Given the description of an element on the screen output the (x, y) to click on. 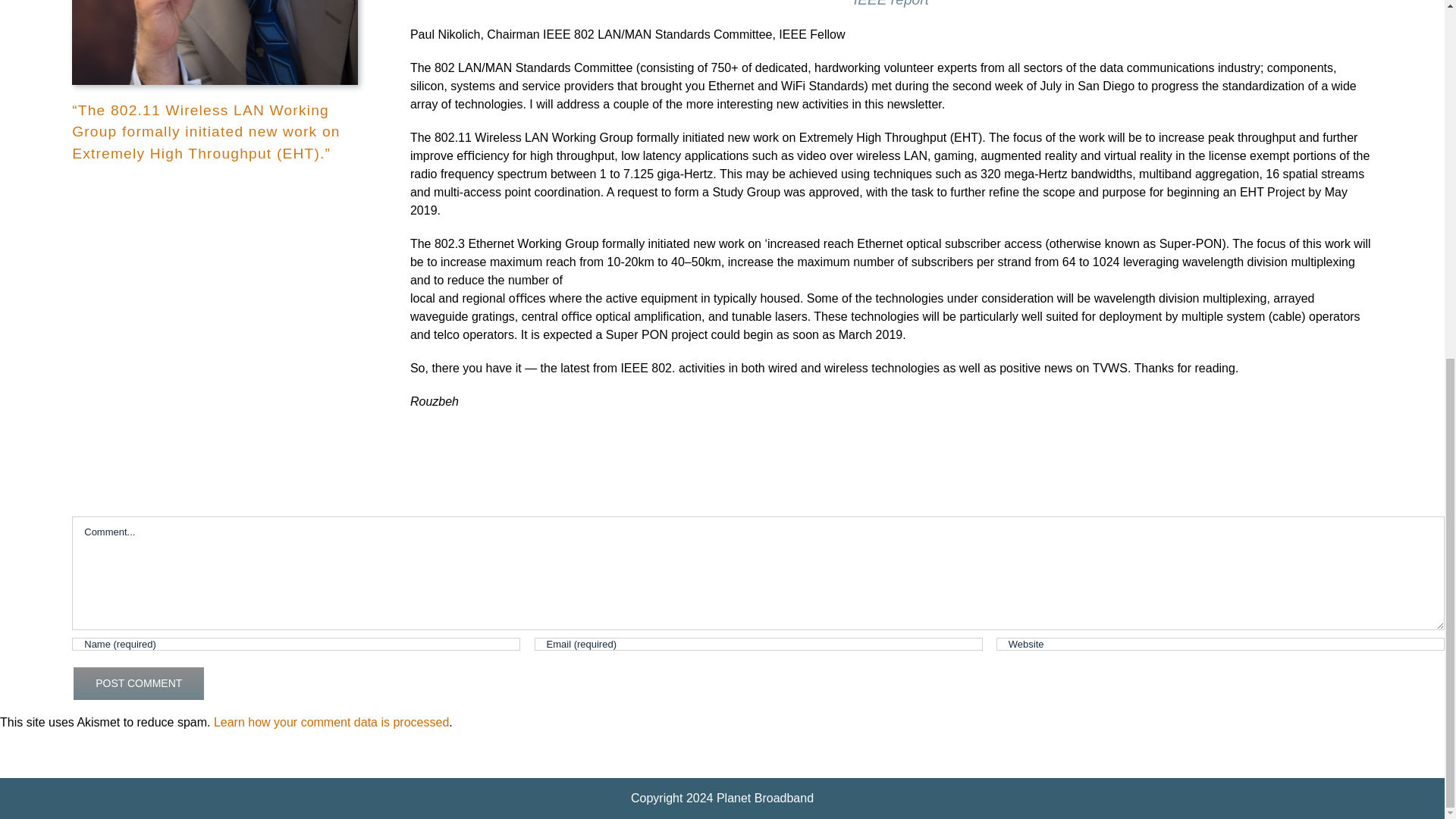
Post Comment (138, 683)
Dr. Rouzbeh Yassini (214, 42)
